Given the description of an element on the screen output the (x, y) to click on. 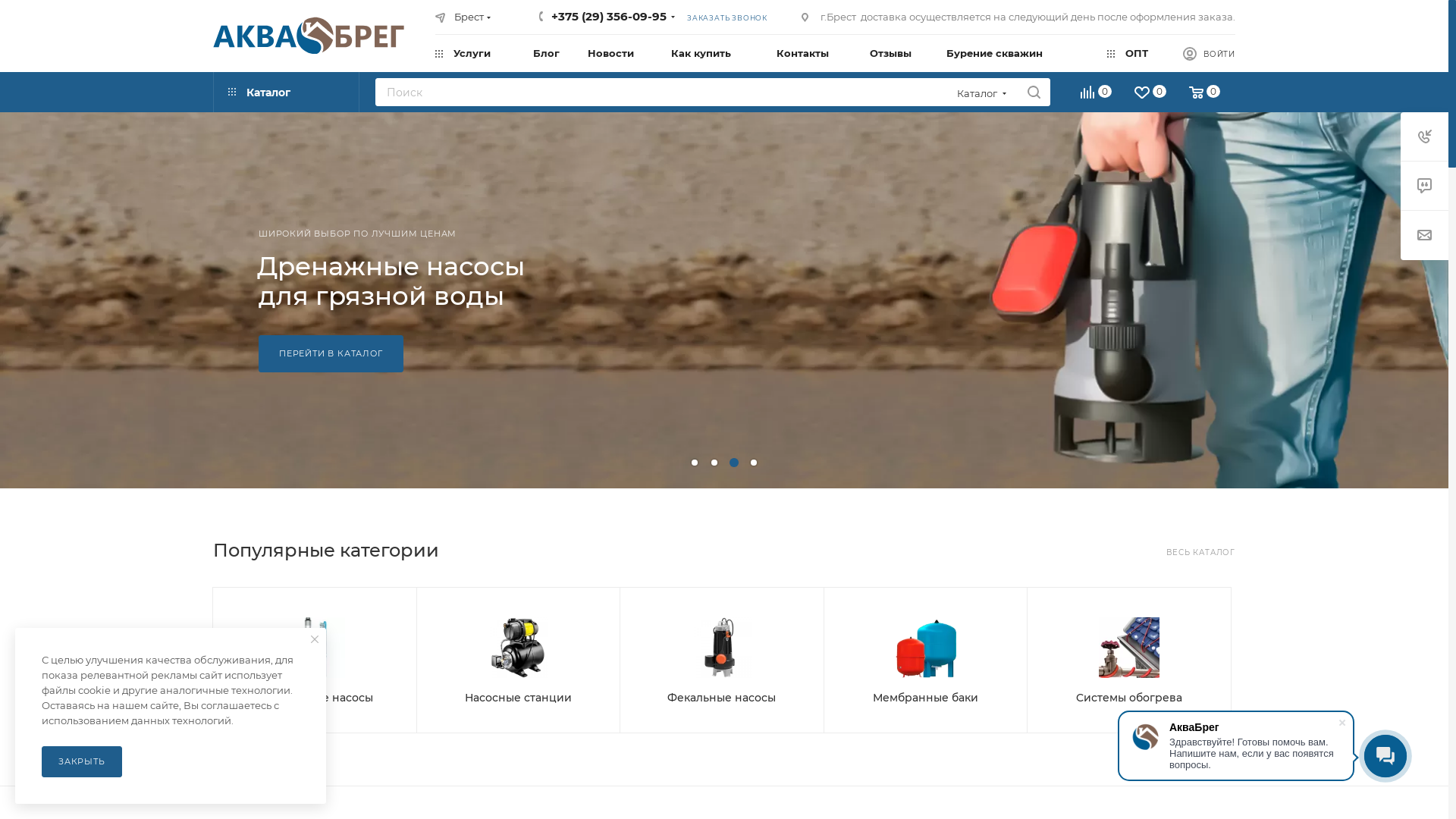
0 Element type: text (1096, 93)
+375 (29) 356-09-95 Element type: text (608, 16)
0 Element type: text (1205, 93)
0 Element type: text (1150, 93)
